Given the description of an element on the screen output the (x, y) to click on. 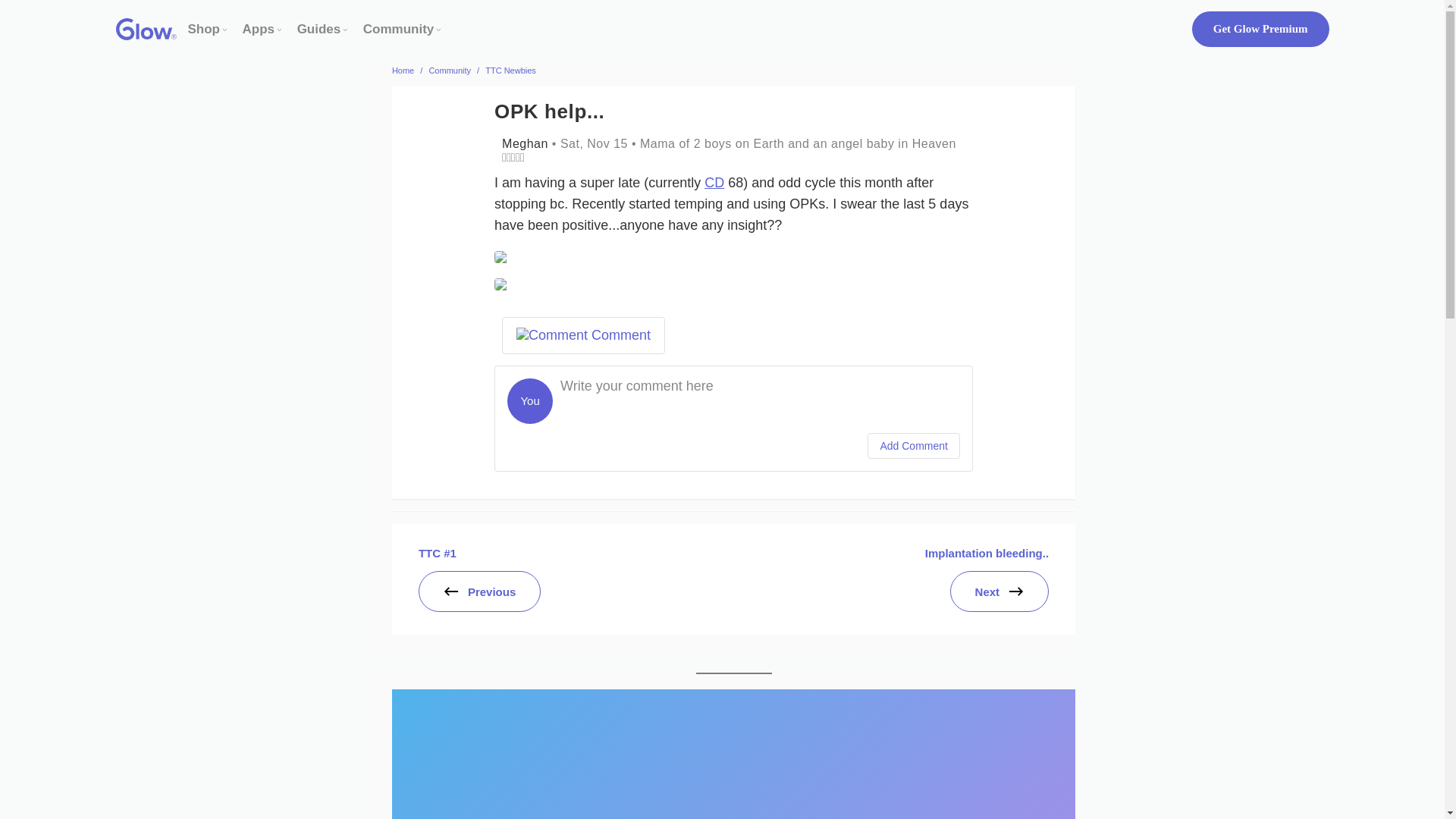
Glow Shop (204, 28)
Guides (318, 28)
Glow Community (397, 28)
Community (397, 28)
Shop (204, 28)
Apps (259, 28)
